Given the description of an element on the screen output the (x, y) to click on. 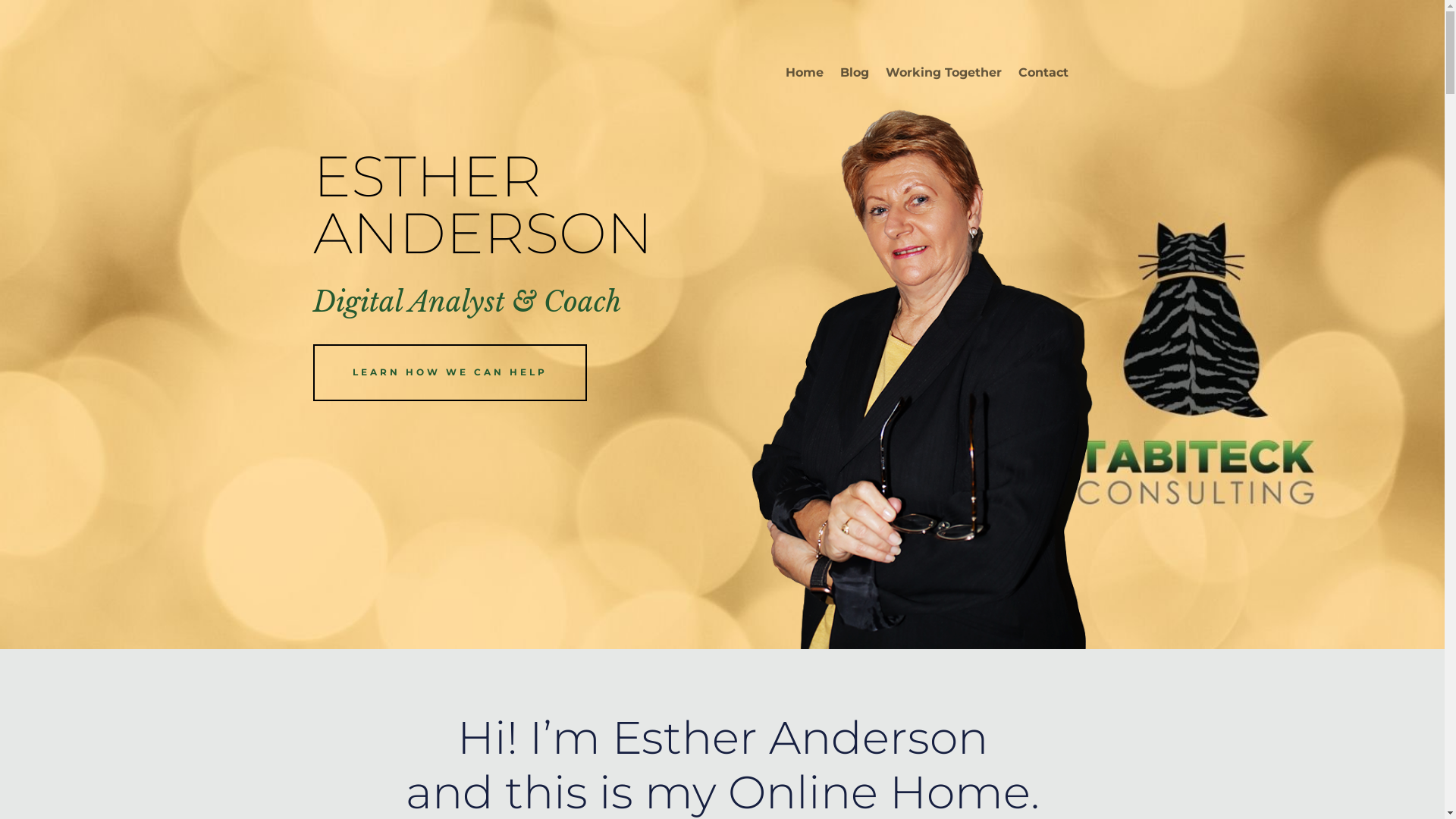
Home Element type: text (804, 75)
IOS-BS_Esther-Anderson Element type: hover (921, 377)
Contact Element type: text (1043, 75)
Blog Element type: text (854, 75)
Working Together Element type: text (943, 75)
LEARN HOW WE CAN HELP Element type: text (449, 372)
